Given the description of an element on the screen output the (x, y) to click on. 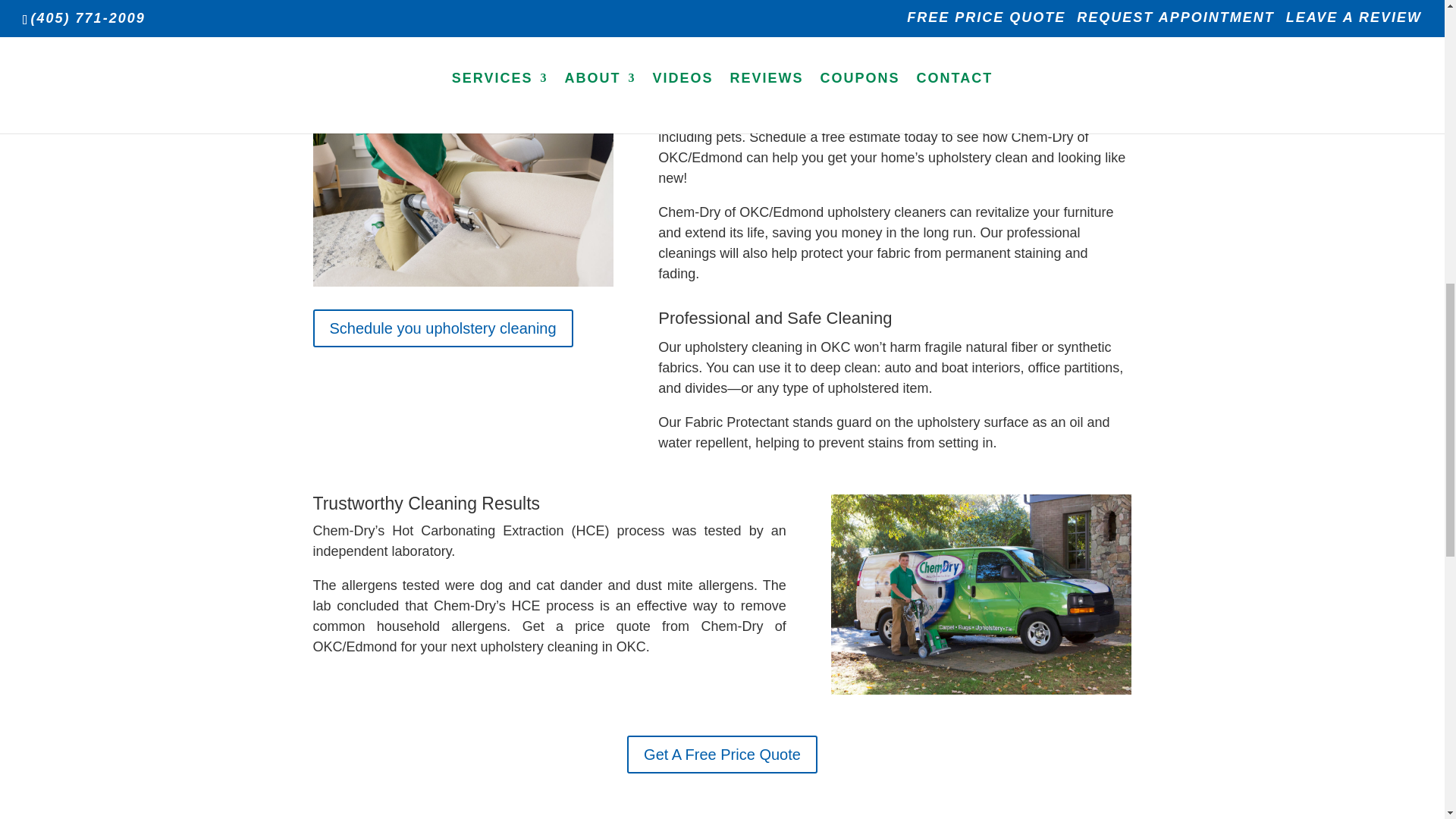
chemdry carpet cleaners (981, 594)
Schedule you upholstery cleaning (442, 328)
Get A Free Price Quote (721, 754)
